Given the description of an element on the screen output the (x, y) to click on. 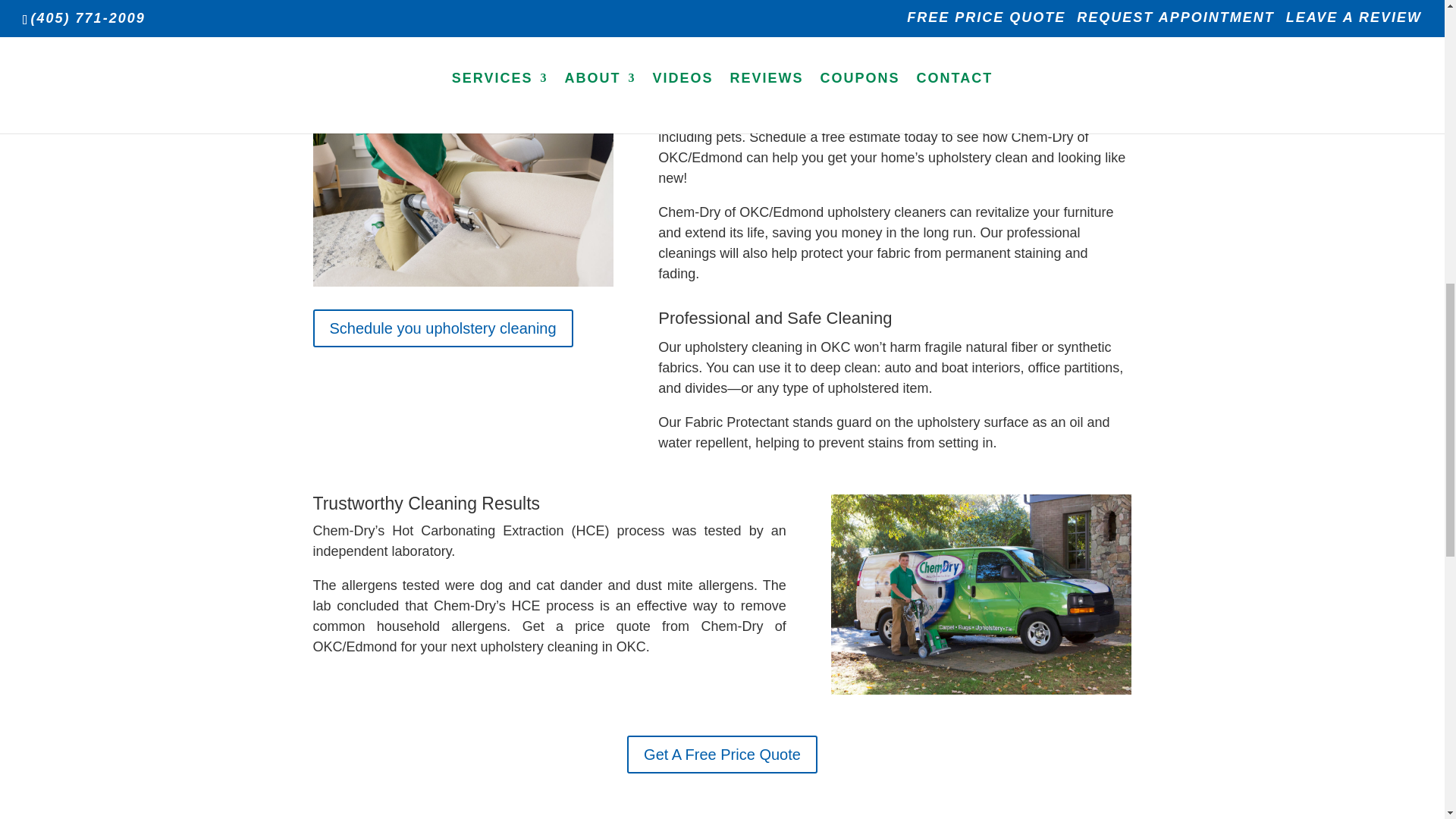
chemdry carpet cleaners (981, 594)
Schedule you upholstery cleaning (442, 328)
Get A Free Price Quote (721, 754)
